Given the description of an element on the screen output the (x, y) to click on. 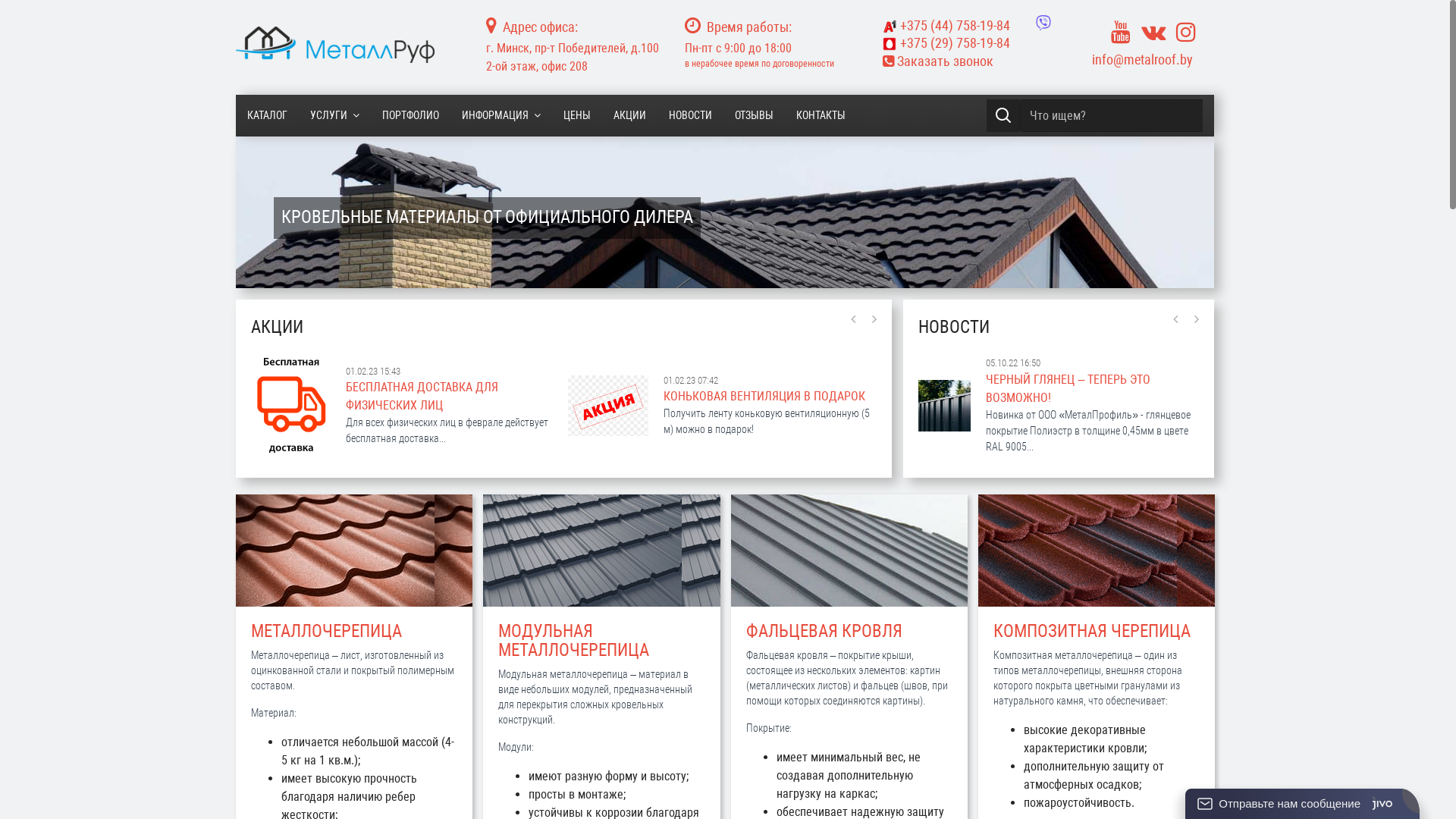
info@metalroof.by Element type: text (1142, 59)
+375 (44) 758-19-84 Element type: text (946, 25)
+375 (29) 758-19-84 Element type: text (970, 42)
